Given the description of an element on the screen output the (x, y) to click on. 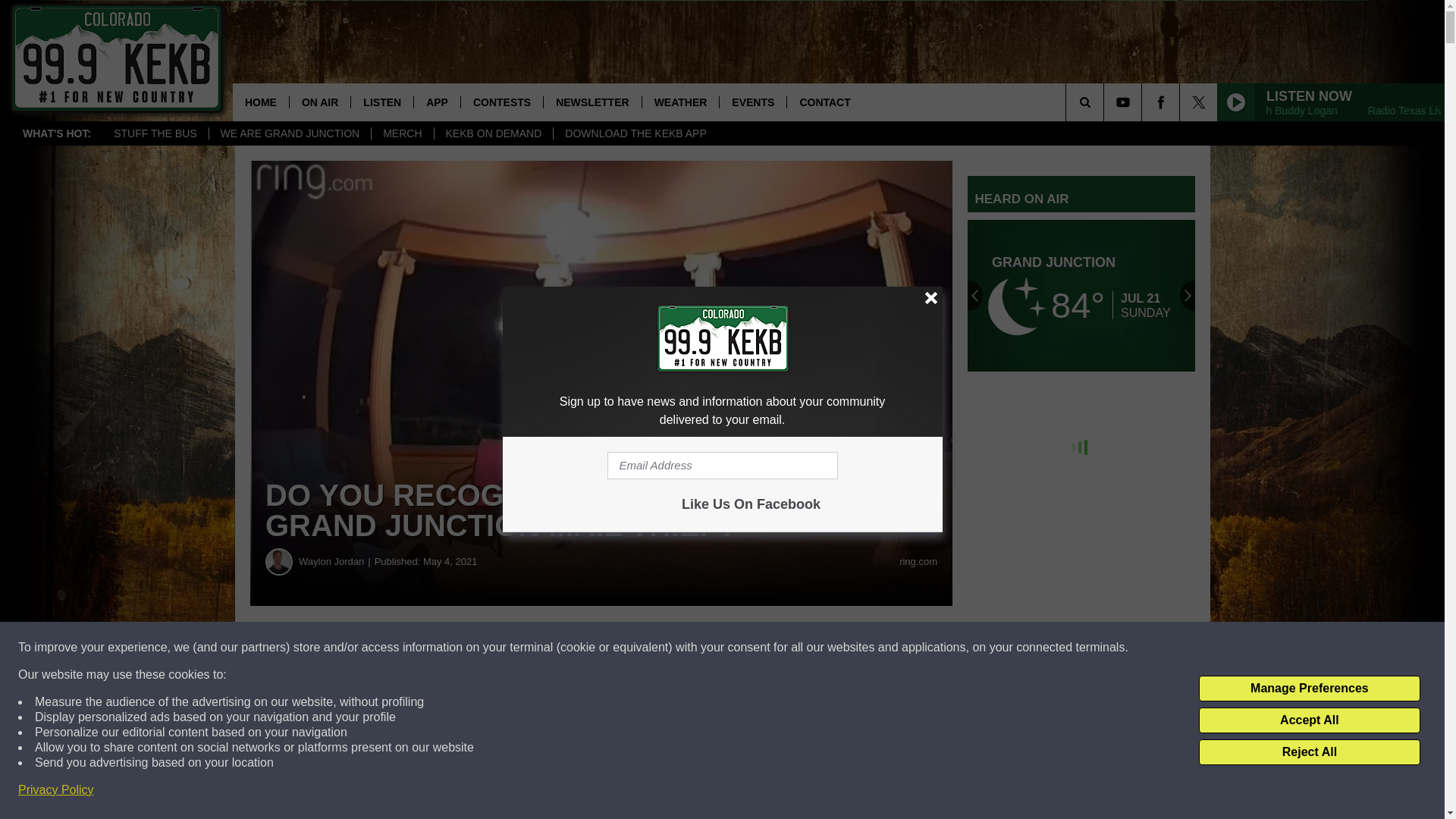
Share on Twitter (741, 647)
Accept All (1309, 720)
CONTESTS (501, 102)
Manage Preferences (1309, 688)
KEKB ON DEMAND (493, 133)
WE ARE GRAND JUNCTION (289, 133)
HOME (260, 102)
DOWNLOAD THE KEKB APP (635, 133)
Grand Junction Weather (1081, 295)
SEARCH (1106, 102)
WHAT'S HOT: (56, 133)
APP (436, 102)
Privacy Policy (55, 789)
MERCH (401, 133)
Share on Facebook (460, 647)
